Given the description of an element on the screen output the (x, y) to click on. 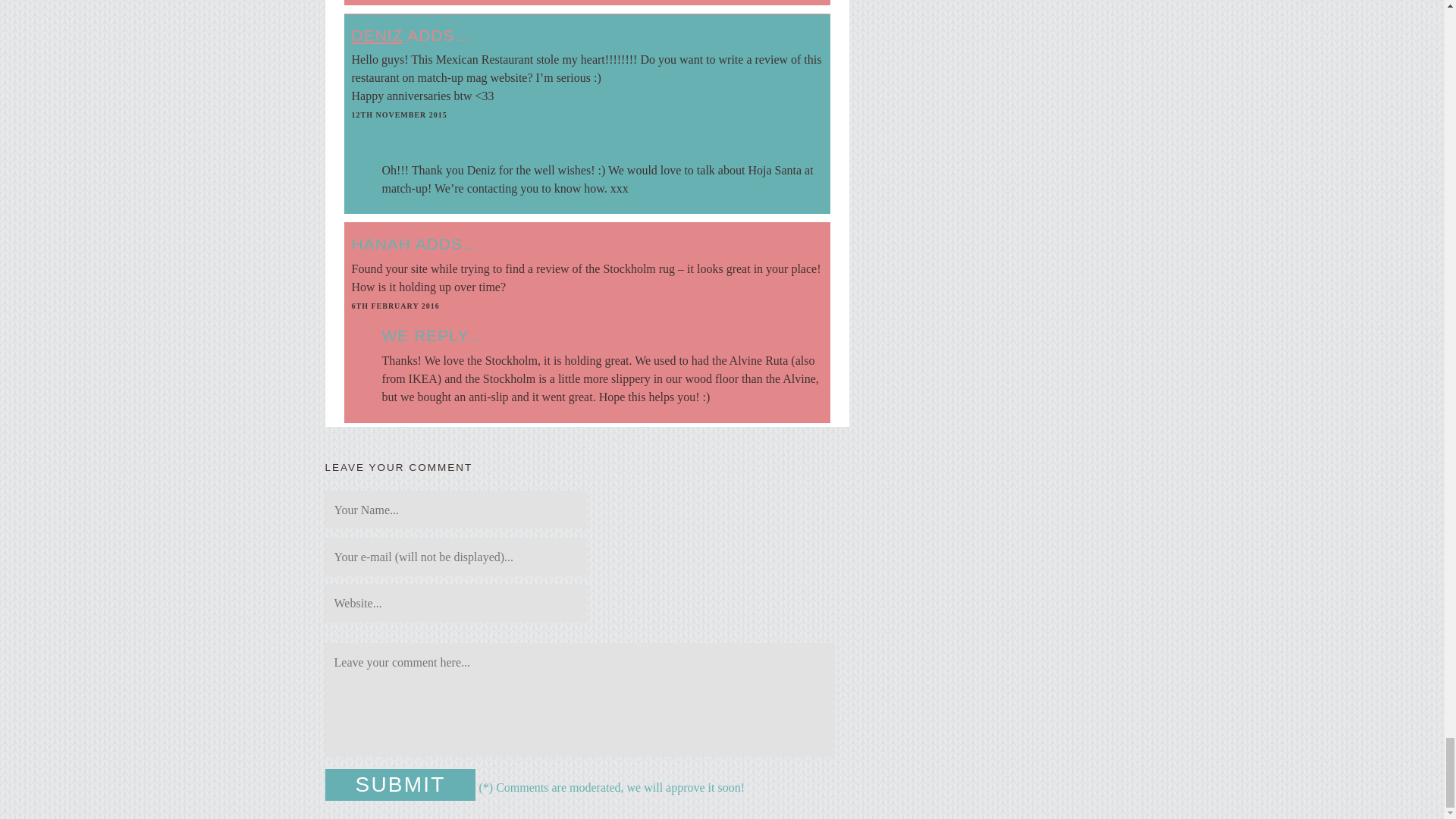
Submit (400, 784)
DENIZ (377, 35)
Submit (400, 784)
